Given the description of an element on the screen output the (x, y) to click on. 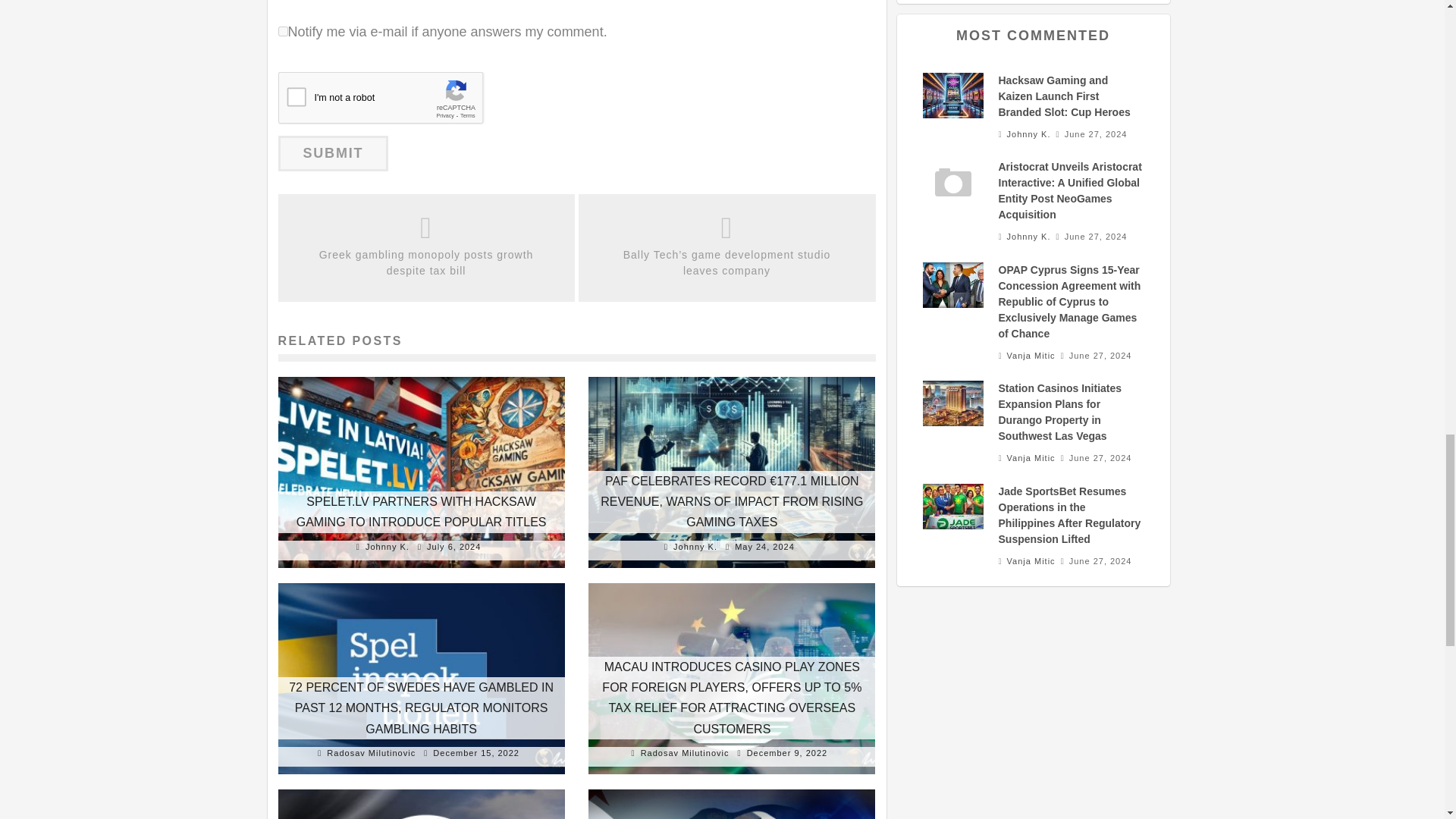
Submit (333, 153)
on (282, 31)
